Given the description of an element on the screen output the (x, y) to click on. 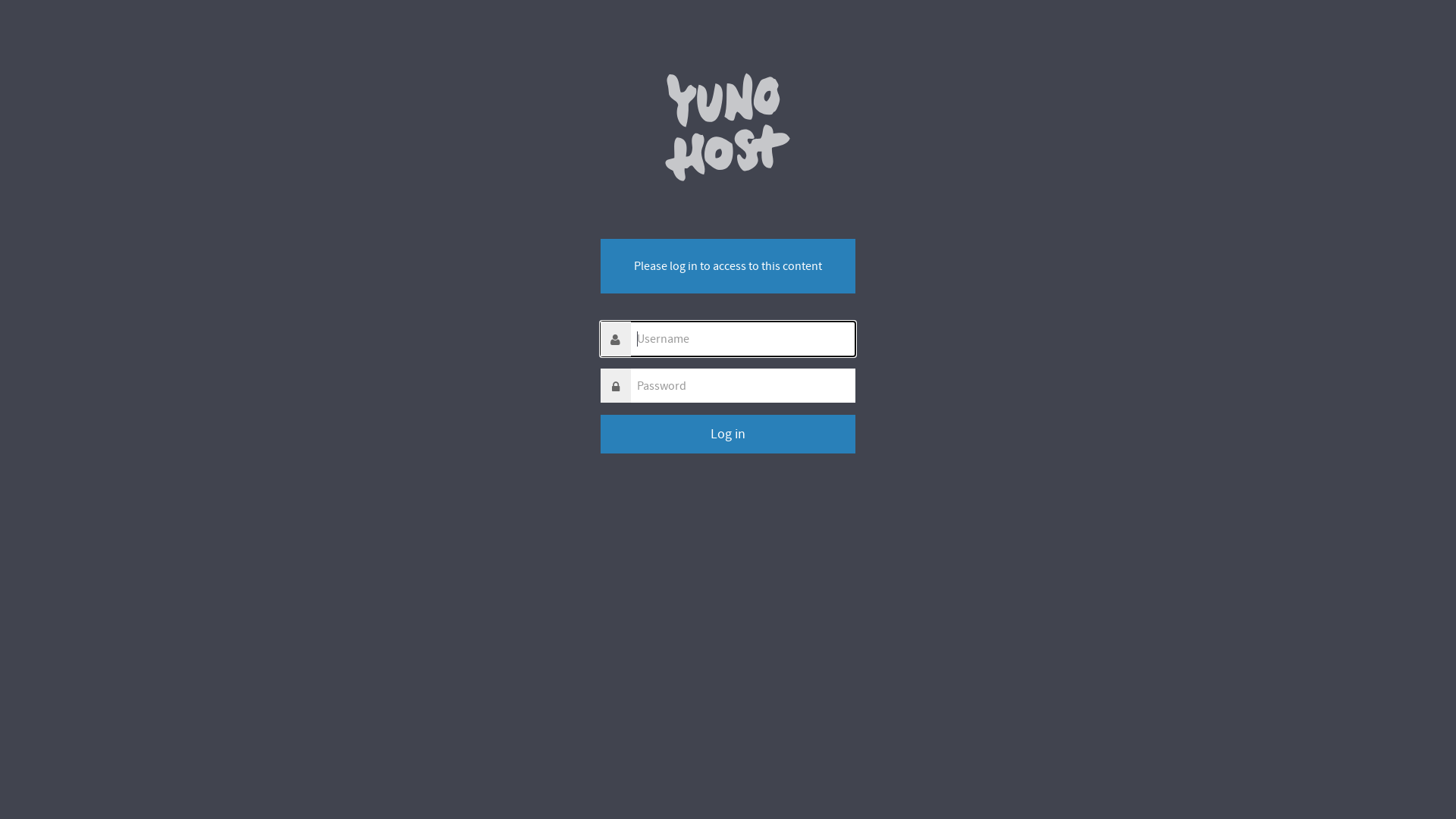
Log in Element type: text (727, 433)
